Given the description of an element on the screen output the (x, y) to click on. 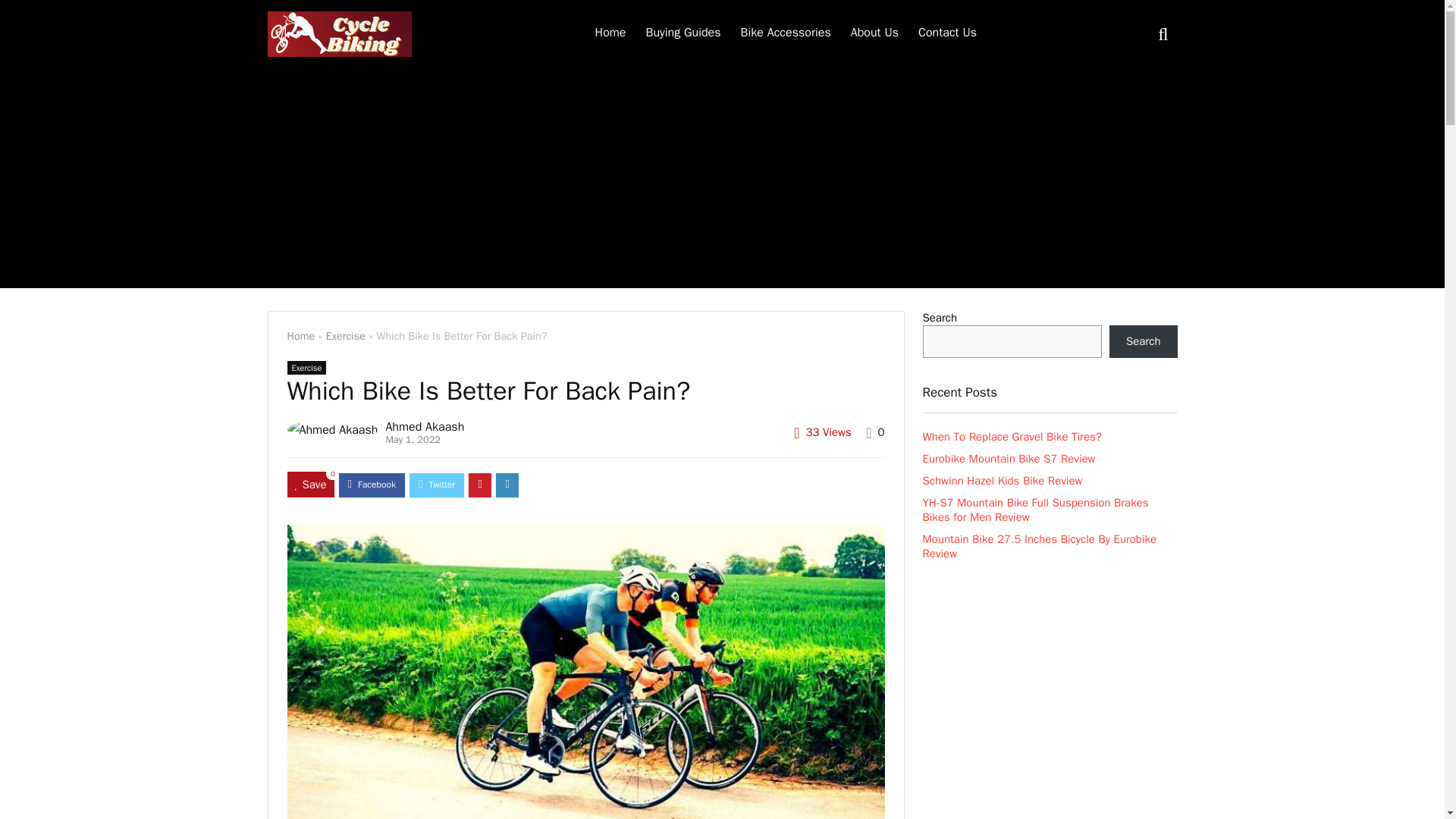
View all posts in Exercise (306, 367)
About Us (874, 33)
Mountain Bike 27.5 Inches Bicycle By Eurobike Review (1038, 546)
Eurobike Mountain Bike S7 Review (1007, 459)
Exercise (345, 336)
Home (300, 336)
Exercise (306, 367)
Ahmed Akaash (424, 426)
When To Replace Gravel Bike Tires? (1010, 436)
Schwinn Hazel Kids Bike Review (1001, 480)
Home (610, 33)
Search (1143, 341)
Contact Us (947, 33)
